Given the description of an element on the screen output the (x, y) to click on. 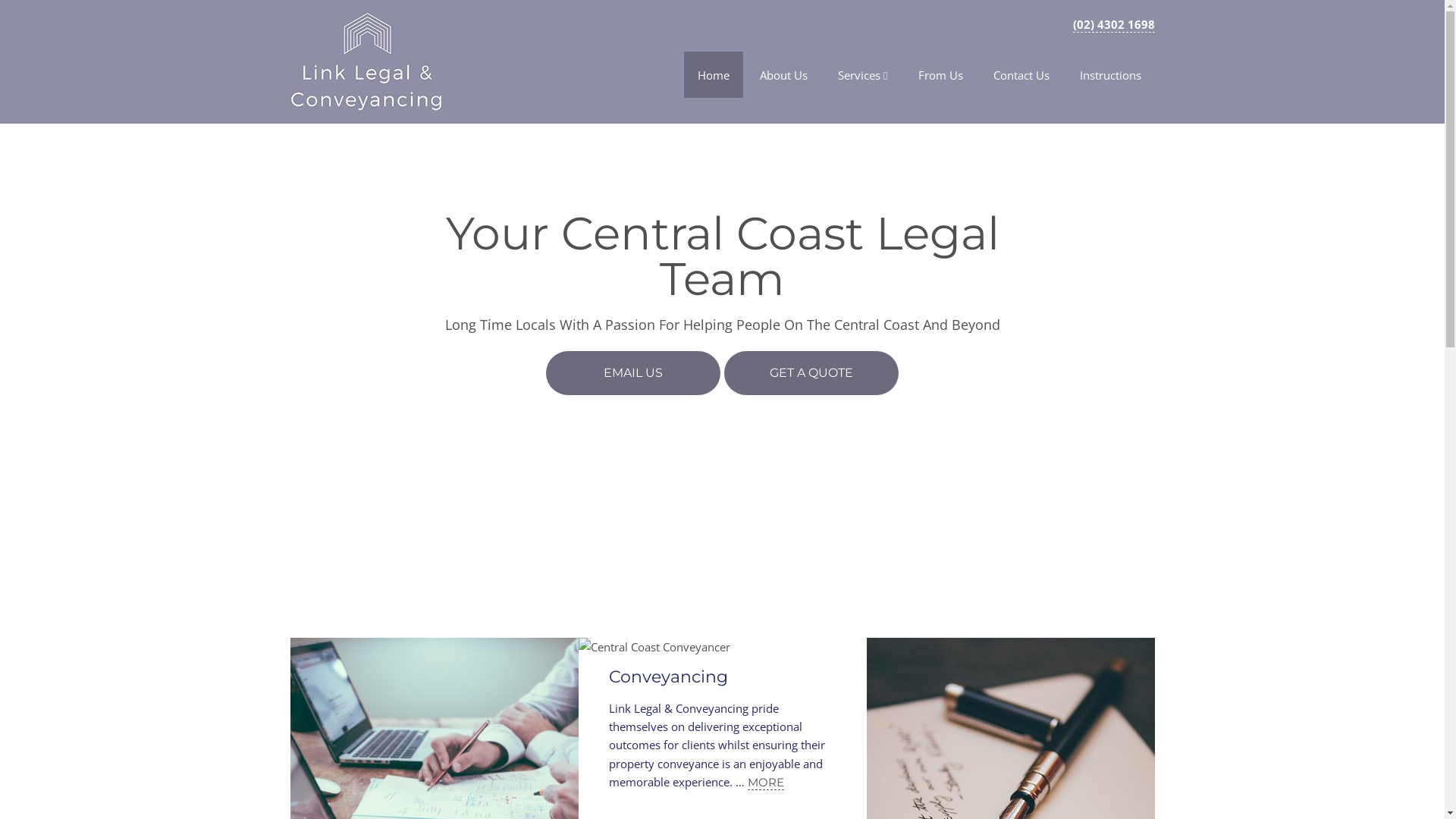
Services Element type: text (862, 74)
Wills & Estate Planning Element type: text (993, 676)
EMAIL US Element type: text (633, 373)
Contact Us Element type: text (1021, 74)
(02) 4302 1698 Element type: text (1113, 24)
About Us Element type: text (783, 74)
MORE Element type: text (447, 782)
Divorce & Family Law Element type: text (409, 676)
Instructions Element type: text (1110, 74)
Conveyancing Element type: text (667, 676)
MORE Element type: text (949, 782)
GET A QUOTE Element type: text (811, 373)
From Us Element type: text (939, 74)
Home Element type: text (713, 74)
Link Legal and Conveyancing Element type: hover (365, 99)
MORE Element type: text (765, 782)
